Given the description of an element on the screen output the (x, y) to click on. 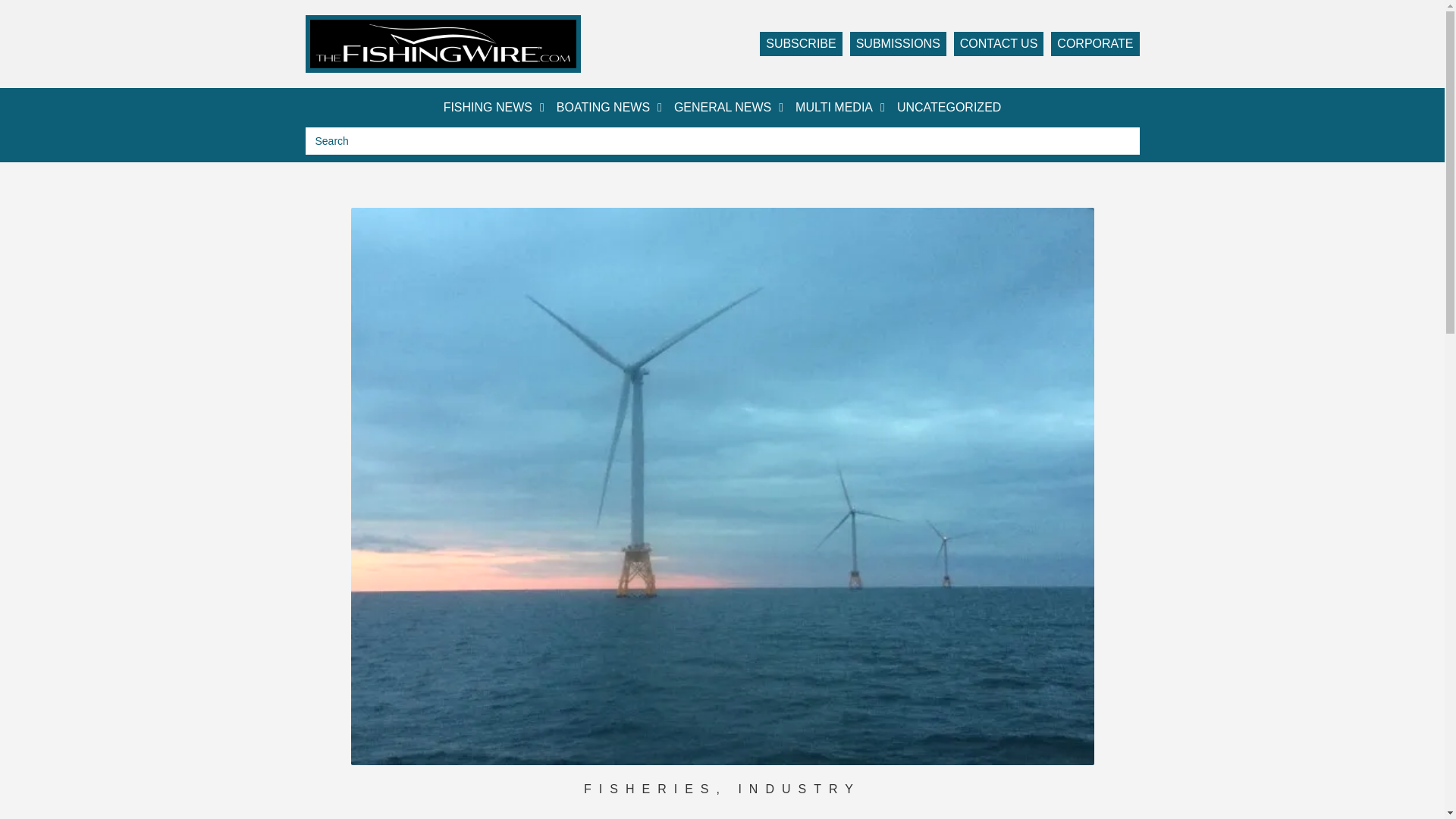
UNCATEGORIZED (949, 107)
SUBMISSIONS (898, 43)
CONTACT US (998, 43)
GENERAL NEWS (728, 107)
CORPORATE (1094, 43)
SUBSCRIBE (800, 43)
FISHING NEWS (494, 107)
MULTI MEDIA (840, 107)
BOATING NEWS (609, 107)
